Given the description of an element on the screen output the (x, y) to click on. 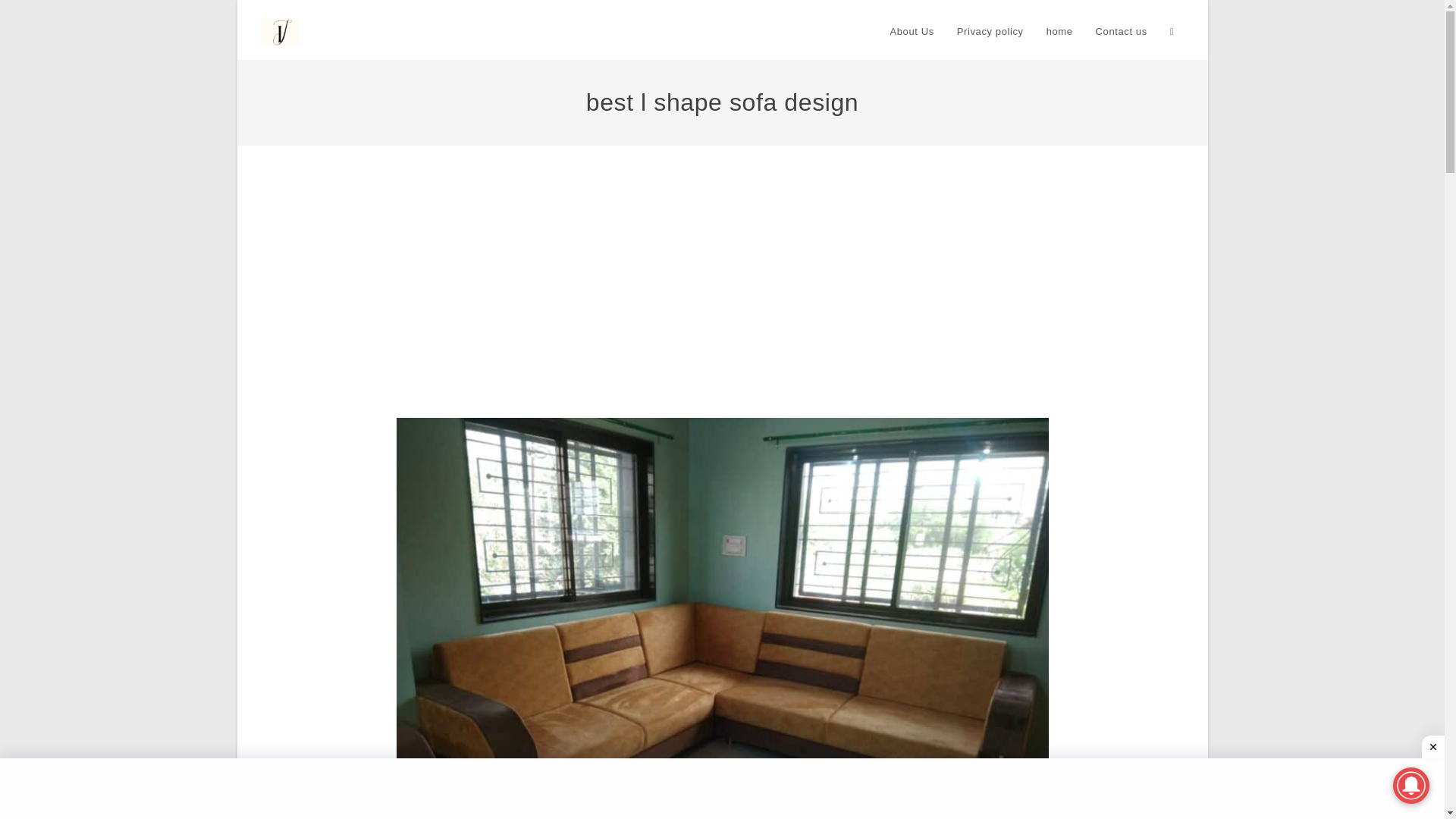
About Us (911, 31)
Advertisement (722, 788)
Privacy policy (989, 31)
Contact us (1121, 31)
